Given the description of an element on the screen output the (x, y) to click on. 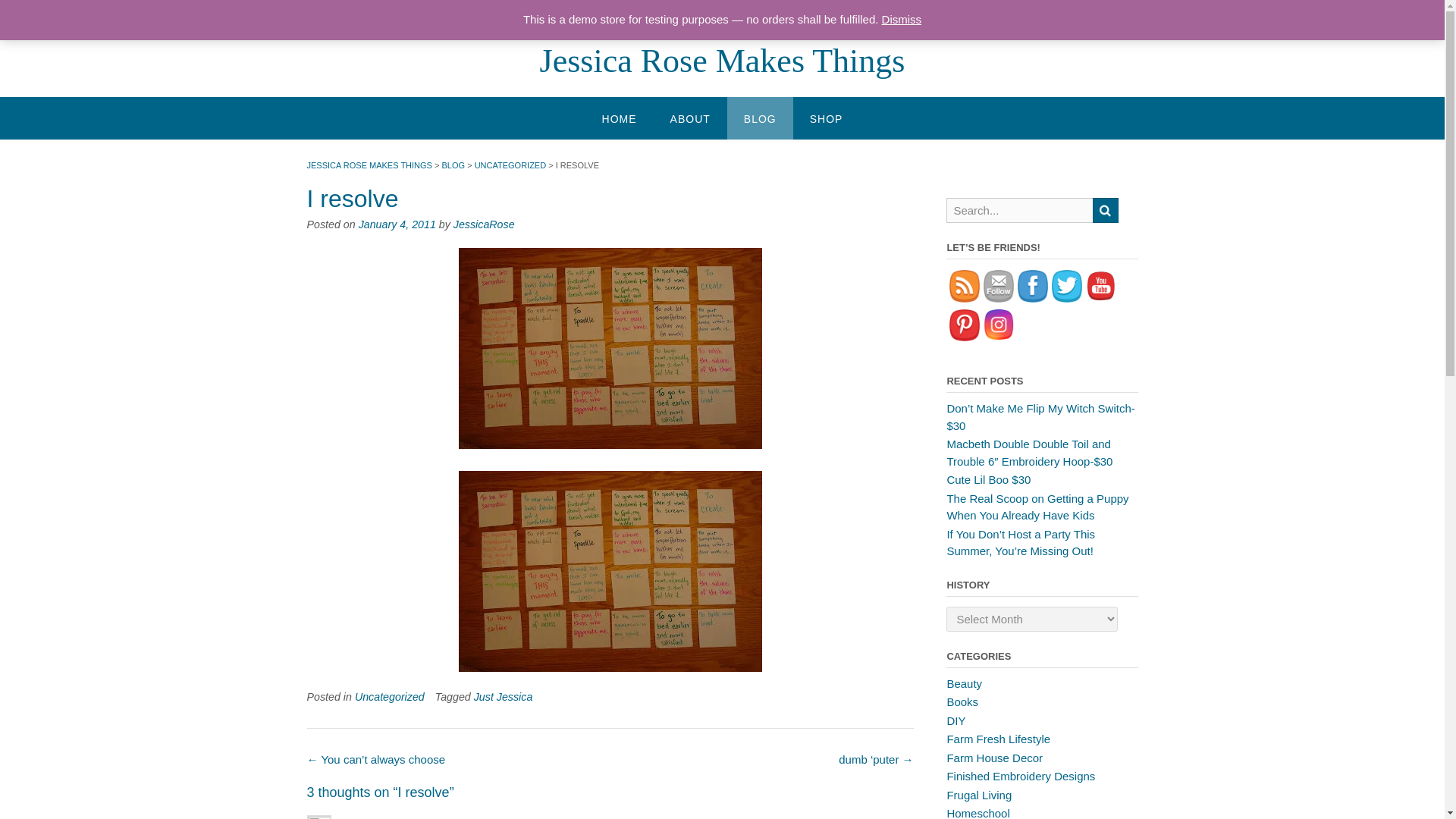
ABOUT (689, 118)
HOME (619, 118)
Just Jessica (503, 696)
SHOP (826, 118)
BLOG (759, 118)
Go to Jessica Rose Makes Things. (367, 164)
